Given the description of an element on the screen output the (x, y) to click on. 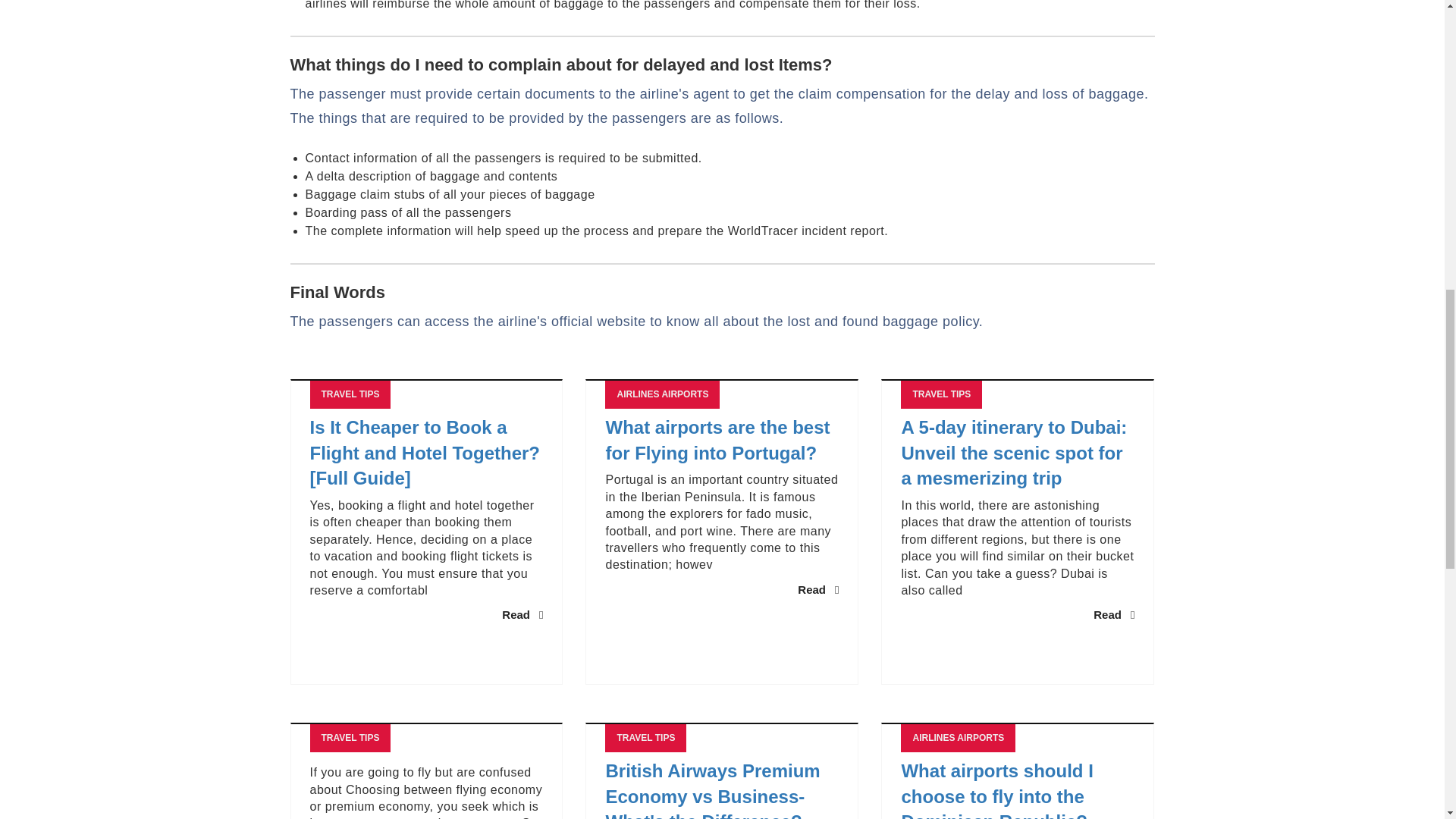
What airports are the best for Flying into Portugal? (721, 440)
Read (522, 614)
Read (1113, 614)
Read (817, 589)
